Given the description of an element on the screen output the (x, y) to click on. 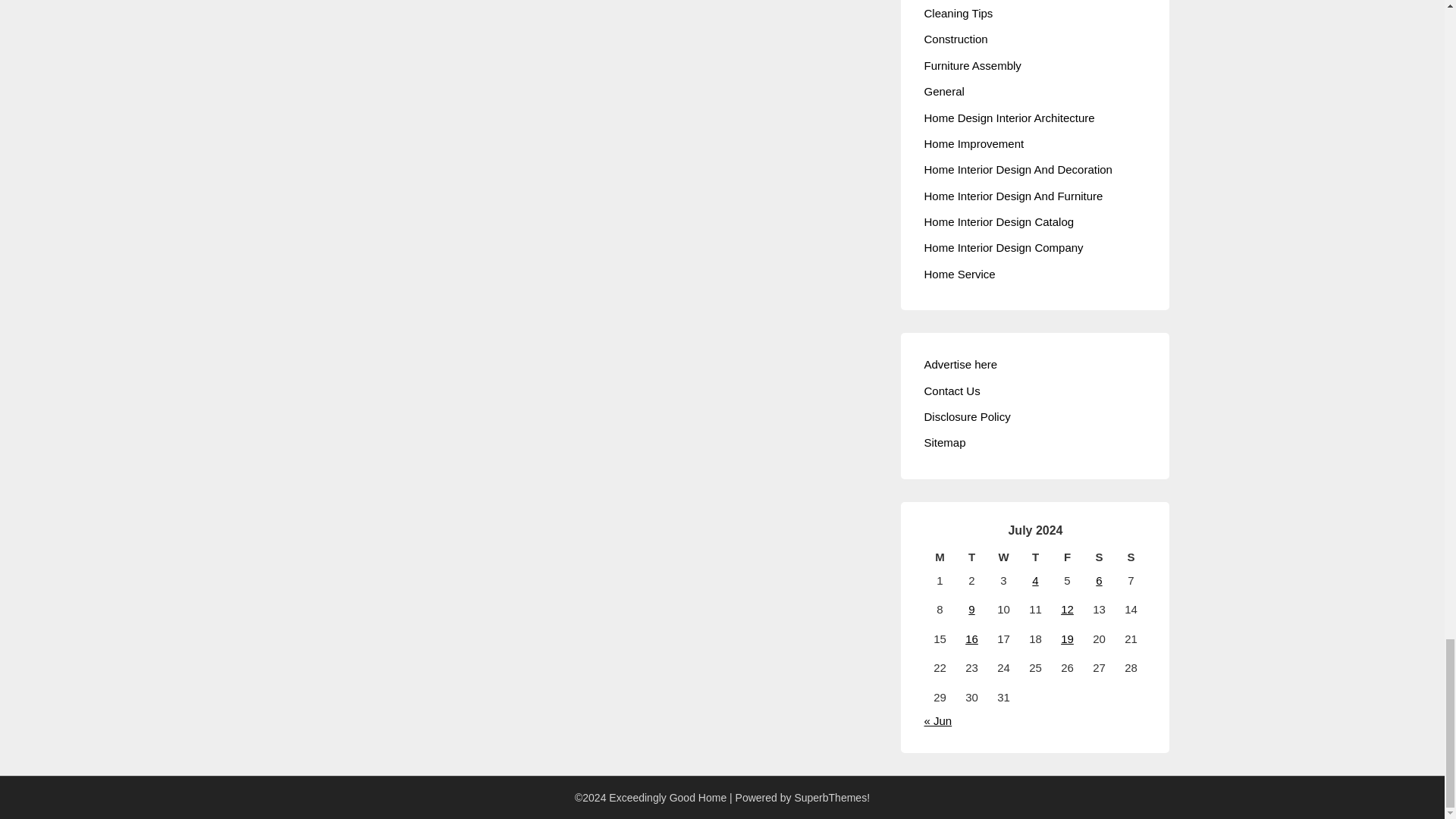
Saturday (1099, 556)
Tuesday (971, 556)
Sunday (1131, 556)
Monday (939, 556)
Wednesday (1003, 556)
Thursday (1035, 556)
Friday (1067, 556)
